Given the description of an element on the screen output the (x, y) to click on. 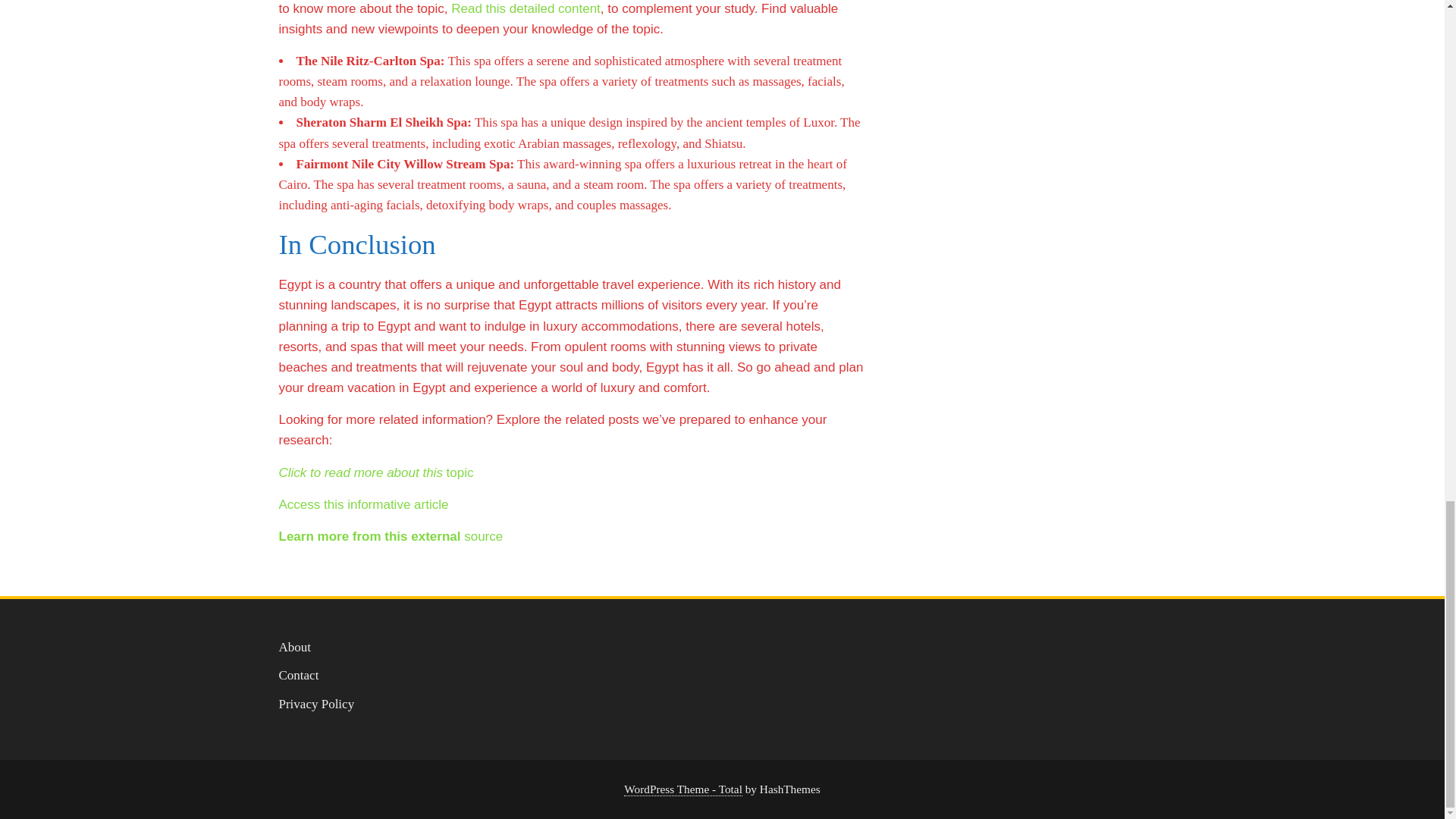
WordPress Theme - Total (683, 789)
Click to read more about this topic (376, 472)
Contact (298, 675)
Privacy Policy (317, 703)
About (295, 646)
Learn more from this external source (391, 536)
Read this detailed content (525, 7)
Access this informative article (363, 504)
